Given the description of an element on the screen output the (x, y) to click on. 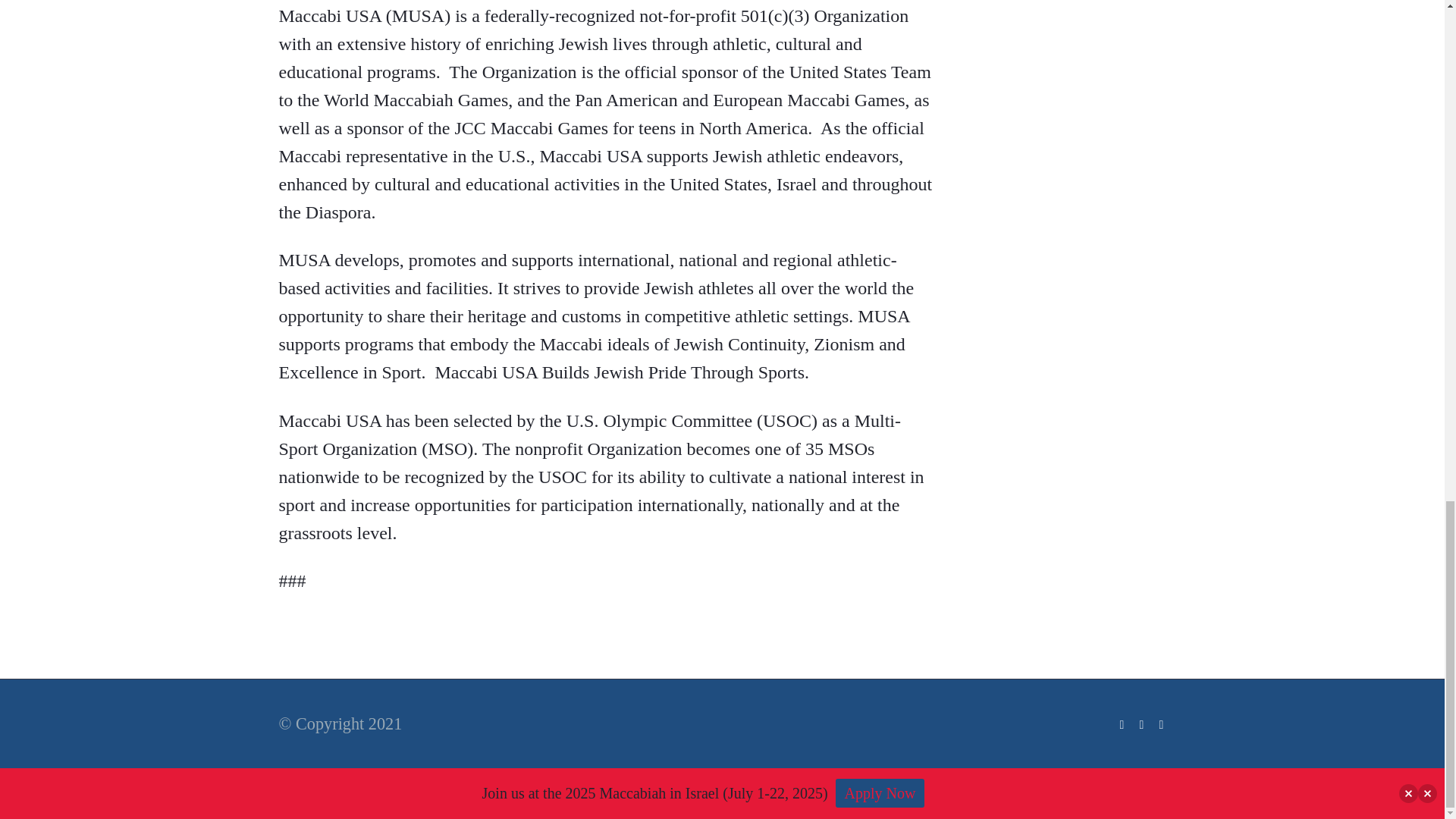
Facebook (1122, 725)
Instagram (1161, 725)
Twitter (1141, 725)
